Given the description of an element on the screen output the (x, y) to click on. 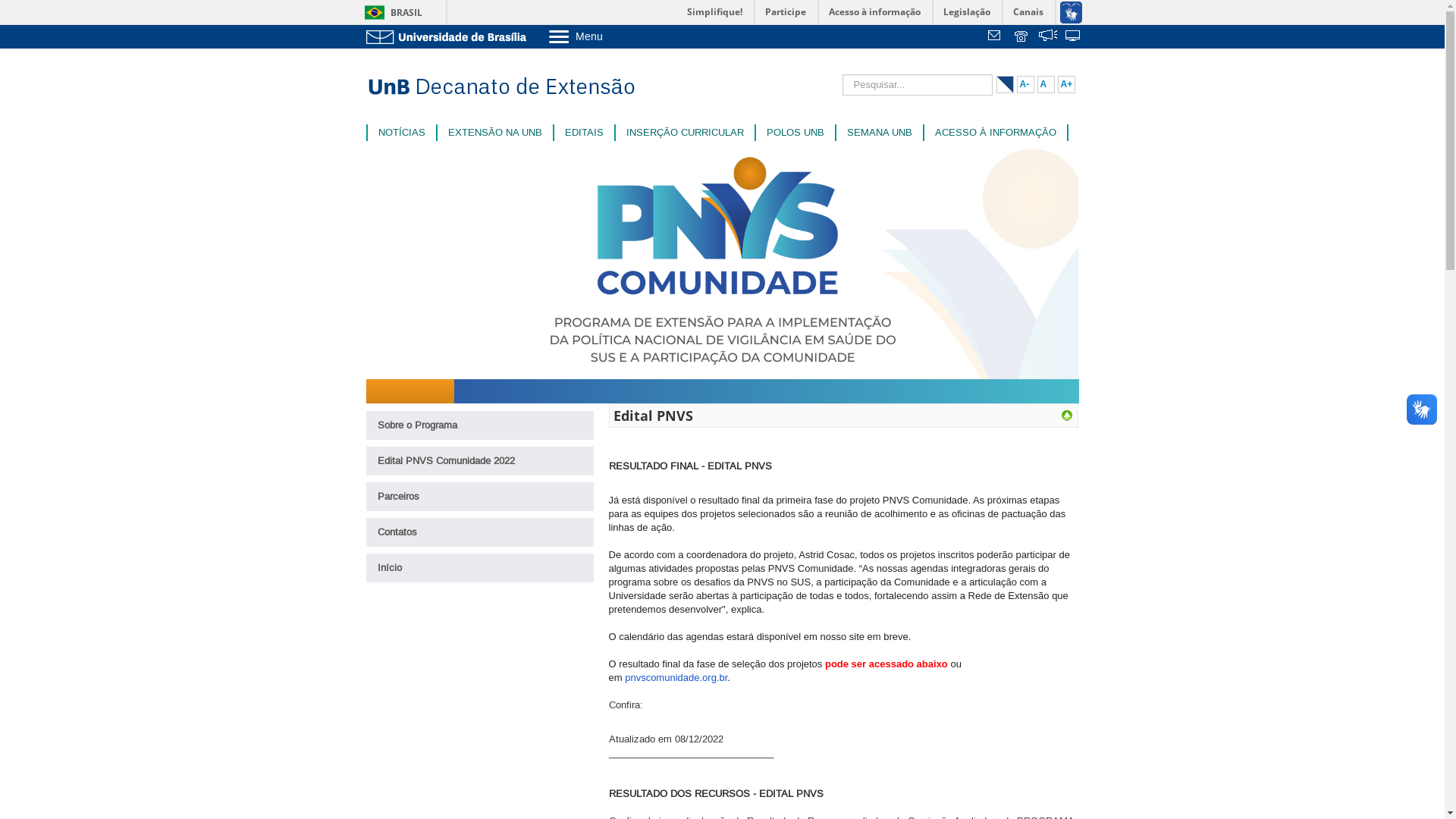
POLOS UNB Element type: text (794, 132)
  Element type: text (1047, 37)
PNVS Comunidade Element type: hover (1066, 415)
pnvscomunidade.org.br Element type: text (675, 677)
A- Element type: text (1024, 84)
Webmail Element type: hover (996, 37)
Edital PNVS Comunidade 2022 Element type: text (479, 460)
Sistemas Element type: hover (1073, 37)
Menu Element type: text (613, 35)
Fala.BR Element type: hover (1047, 37)
A+ Element type: text (1065, 84)
SEMANA UNB Element type: text (878, 132)
  Element type: text (1073, 37)
EDITAIS Element type: text (583, 132)
Sobre o Programa Element type: text (479, 425)
Telefones da UnB Element type: hover (1022, 37)
  Element type: text (996, 37)
Contatos Element type: text (479, 531)
  Element type: text (1022, 37)
BRASIL Element type: text (389, 12)
Ir para o Portal da UnB Element type: hover (448, 36)
A Element type: text (1045, 84)
Parceiros Element type: text (479, 496)
